Given the description of an element on the screen output the (x, y) to click on. 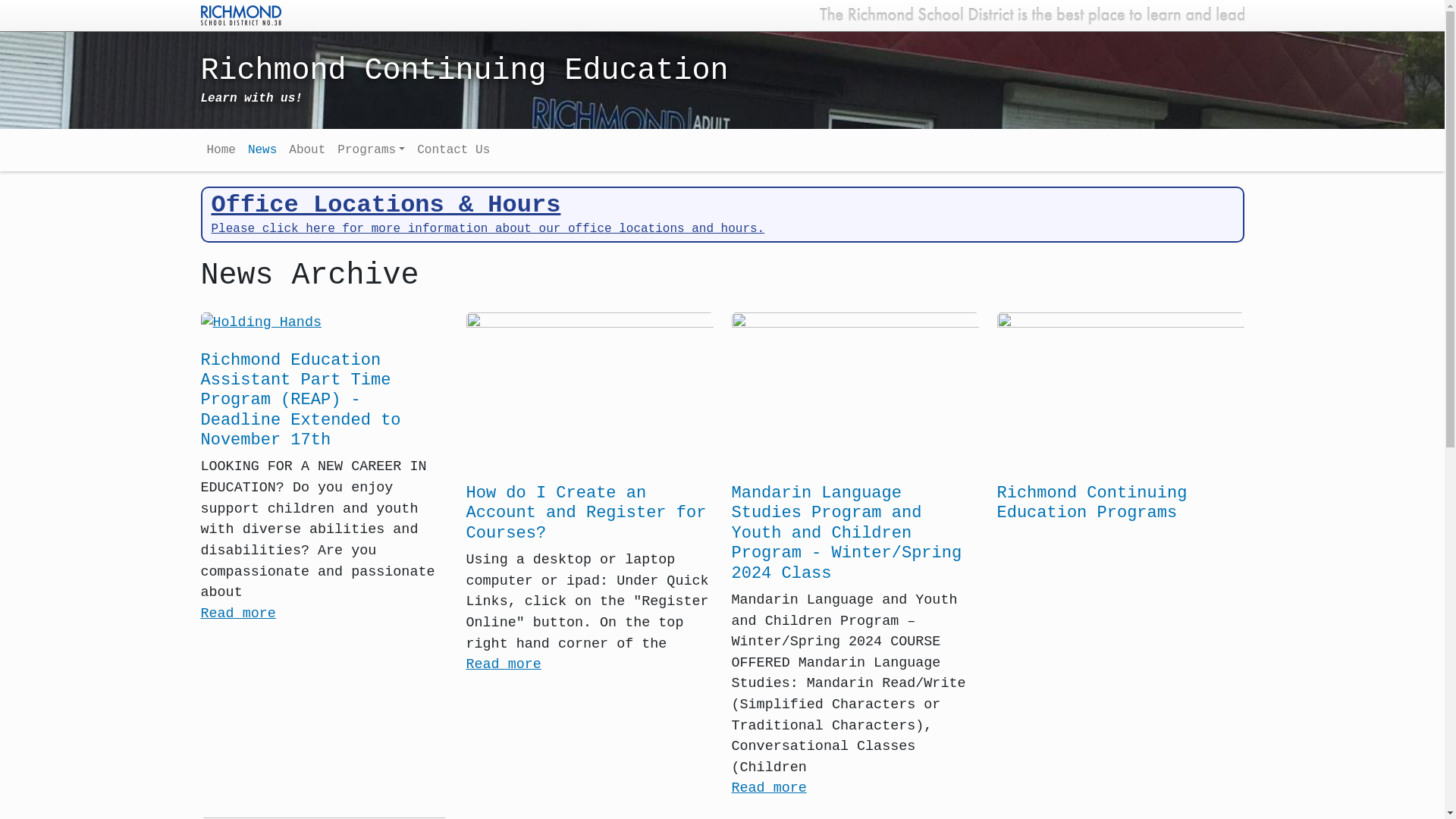
Read more Element type: text (768, 788)
Richmond Continuing Education Element type: text (589, 79)
Contact Us Element type: text (453, 149)
Home Element type: text (220, 149)
Programs Element type: text (371, 149)
News Element type: text (261, 149)
How do I Create an Account and Register for Courses? Element type: text (585, 512)
Read more Element type: text (237, 613)
Read more Element type: text (502, 664)
About Element type: text (306, 149)
Richmond Continuing Education Programs Element type: text (1091, 502)
District Logo Element type: text (240, 13)
